Given the description of an element on the screen output the (x, y) to click on. 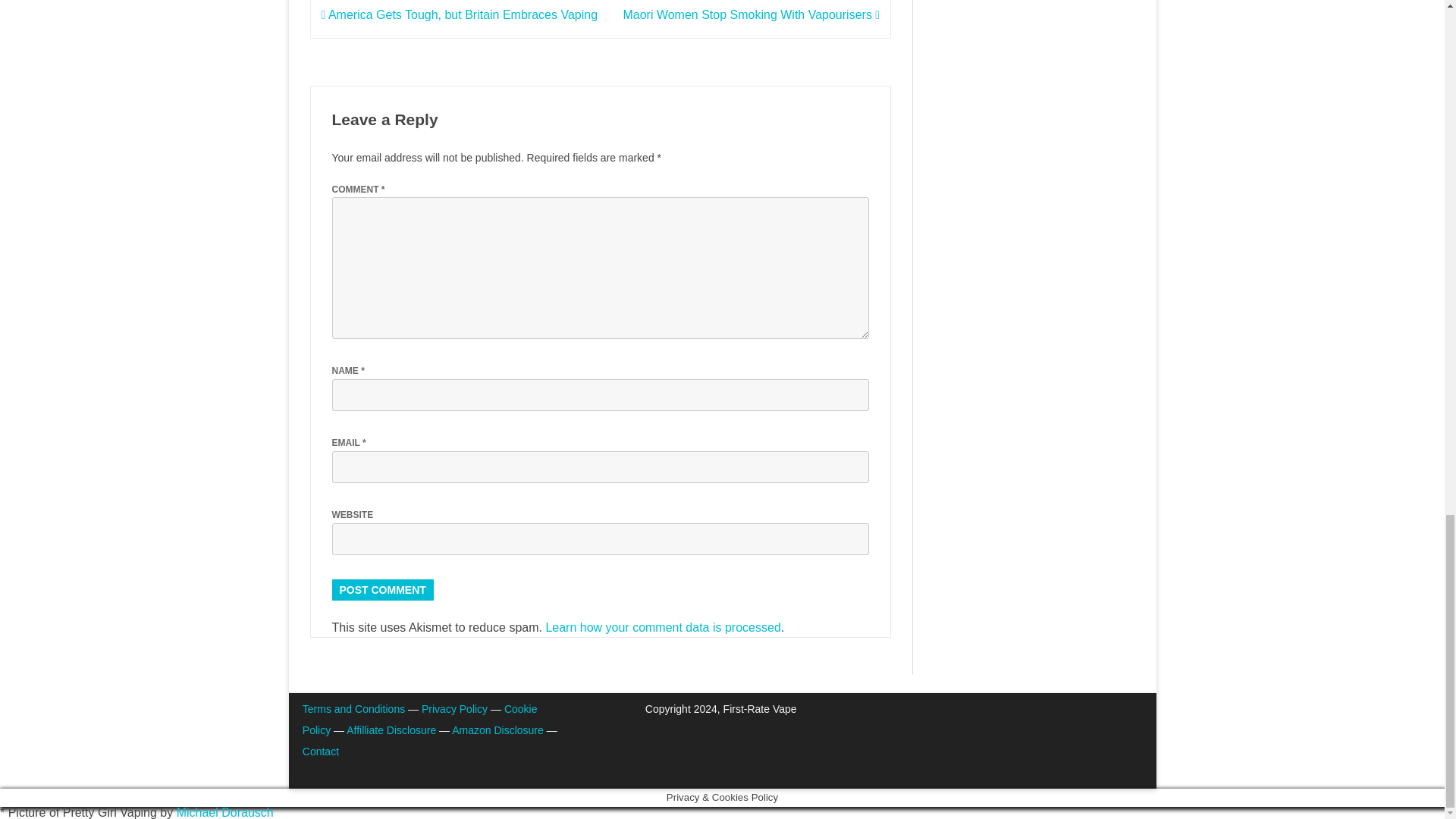
Privacy Policy (454, 708)
Post Comment (382, 589)
Learn how your comment data is processed (662, 626)
America Gets Tough, but Britain Embraces Vaping (459, 14)
Amazon Disclosure (497, 729)
Post Comment (382, 589)
Affilliate Disclosure (390, 729)
Cookie Policy (419, 719)
Maori Women Stop Smoking With Vapourisers (751, 14)
Terms and Conditions (353, 708)
